Given the description of an element on the screen output the (x, y) to click on. 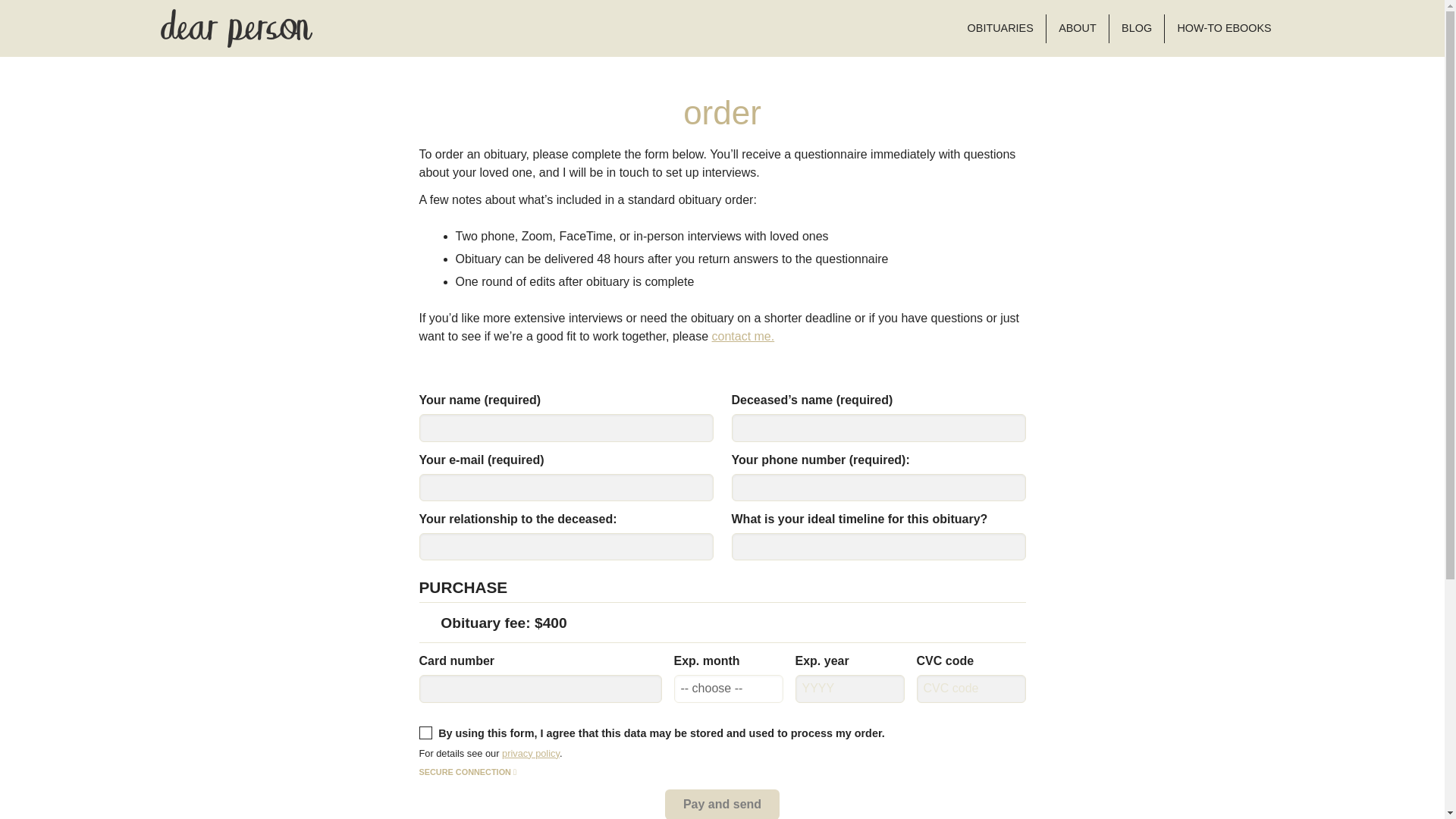
contact me. (742, 336)
ABOUT (1077, 28)
Pay and send (721, 804)
HOW-TO EBOOKS (1224, 28)
OBITUARIES (1000, 28)
Pay and send (721, 804)
BLOG (1136, 28)
privacy policy (530, 753)
